Given the description of an element on the screen output the (x, y) to click on. 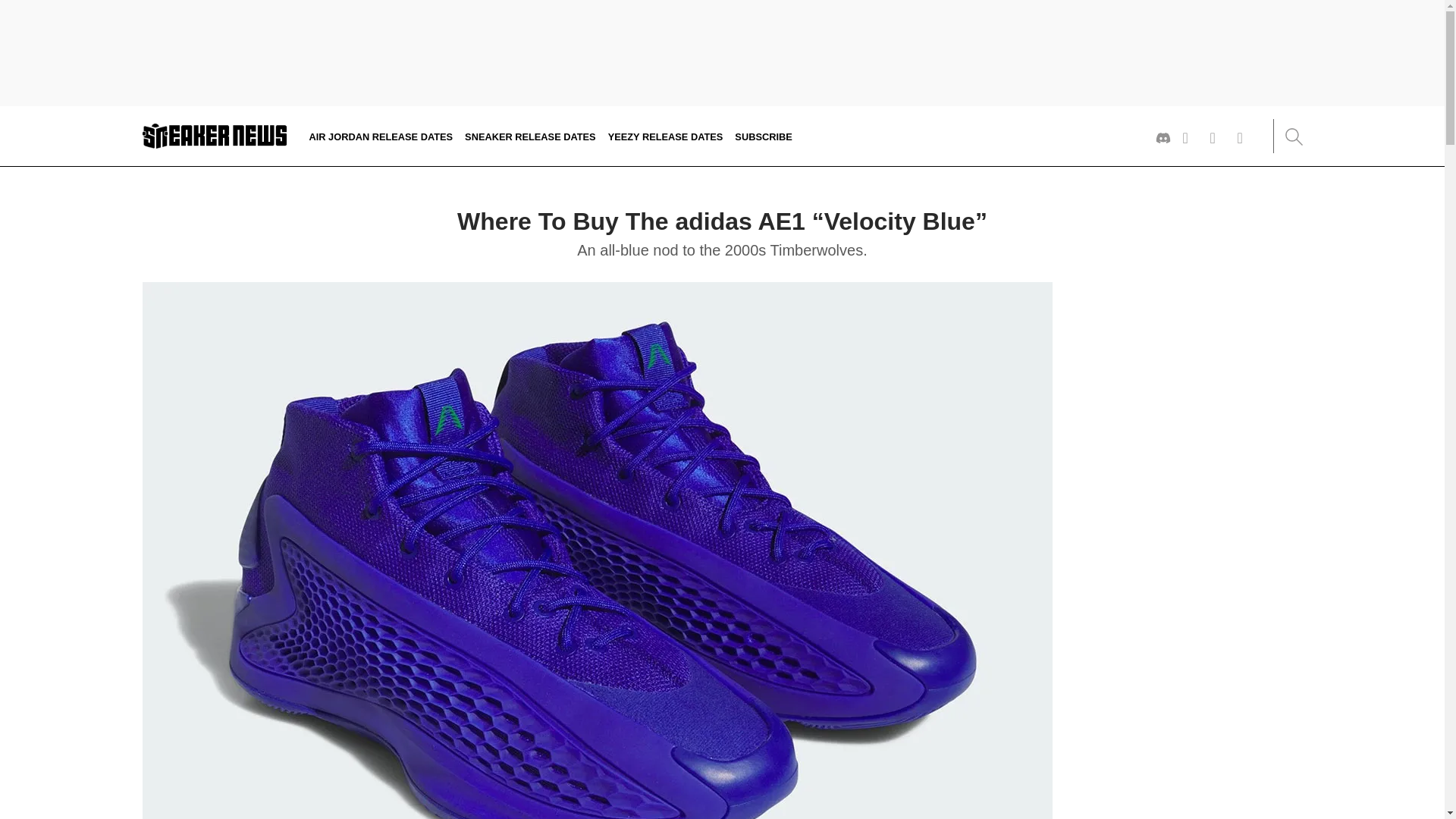
YEEZY RELEASE DATES (665, 135)
Twitter (1190, 137)
Facebook (1244, 137)
SUBSCRIBE (763, 135)
AIR JORDAN RELEASE DATES (380, 135)
Discord (1163, 137)
SNEAKER RELEASE DATES (529, 135)
Search (1292, 136)
Instagram (1217, 137)
Skip to main content (4, 121)
